Given the description of an element on the screen output the (x, y) to click on. 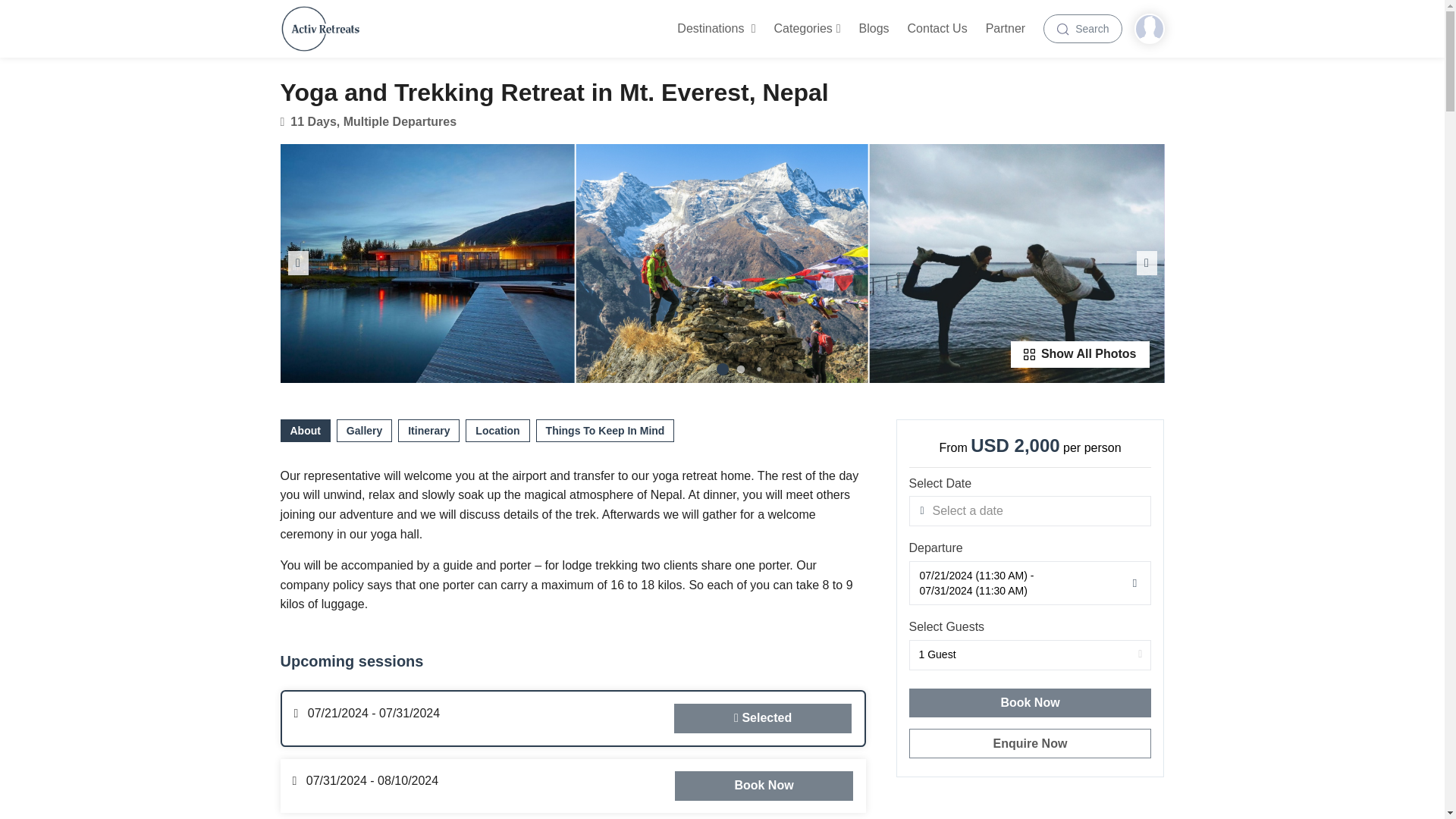
Yoga and Trekking Retreat in Mt. Everest, Nepal (427, 263)
About Gallery Itinerary Location Things To Keep In Mind (573, 433)
Search (1082, 29)
Blogs (873, 29)
Categories (806, 29)
Partner (1004, 29)
Yoga and Trekking Retreat in Mt. Everest, Nepal (721, 263)
Destinations (716, 29)
Contact Us (937, 29)
Yoga and Trekking Retreat in Mt. Everest, Nepal (1016, 263)
